Given the description of an element on the screen output the (x, y) to click on. 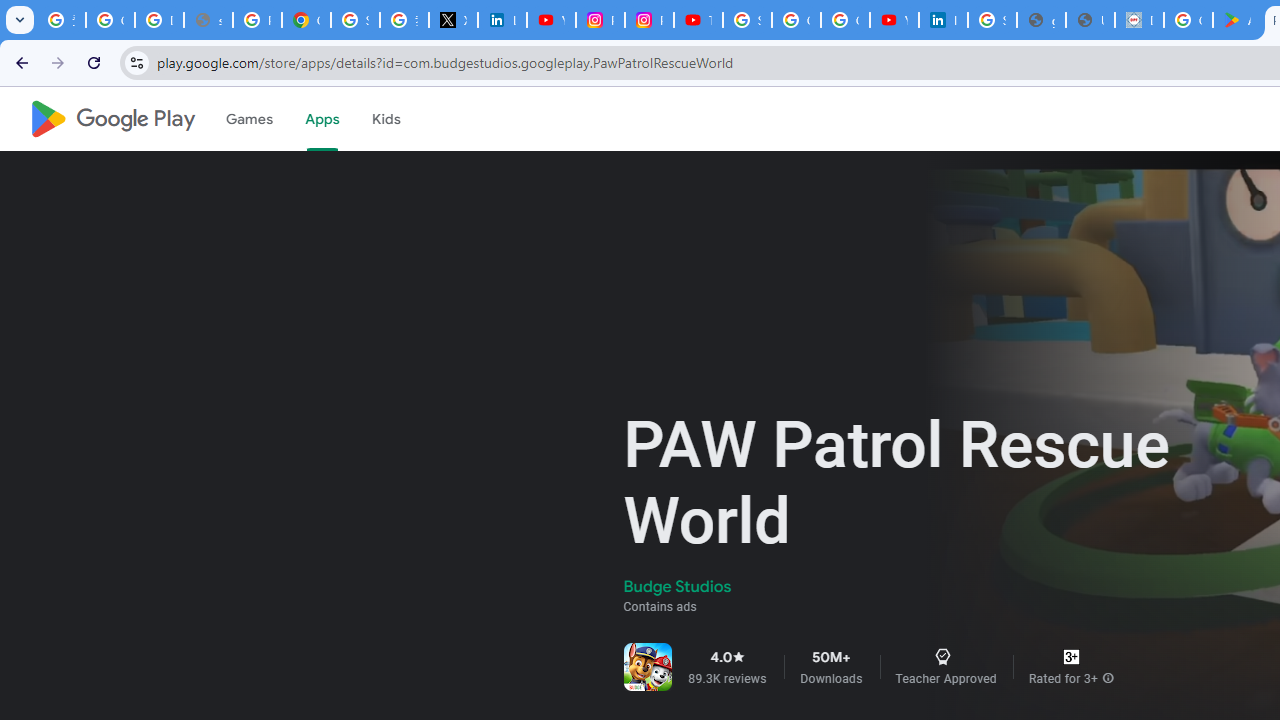
More info about this content rating (1108, 678)
User Details (1090, 20)
Kids (385, 119)
Android Apps on Google Play (1237, 20)
Apps (321, 119)
Privacy Help Center - Policies Help (257, 20)
Games (248, 119)
Budge Studios (677, 586)
